Given the description of an element on the screen output the (x, y) to click on. 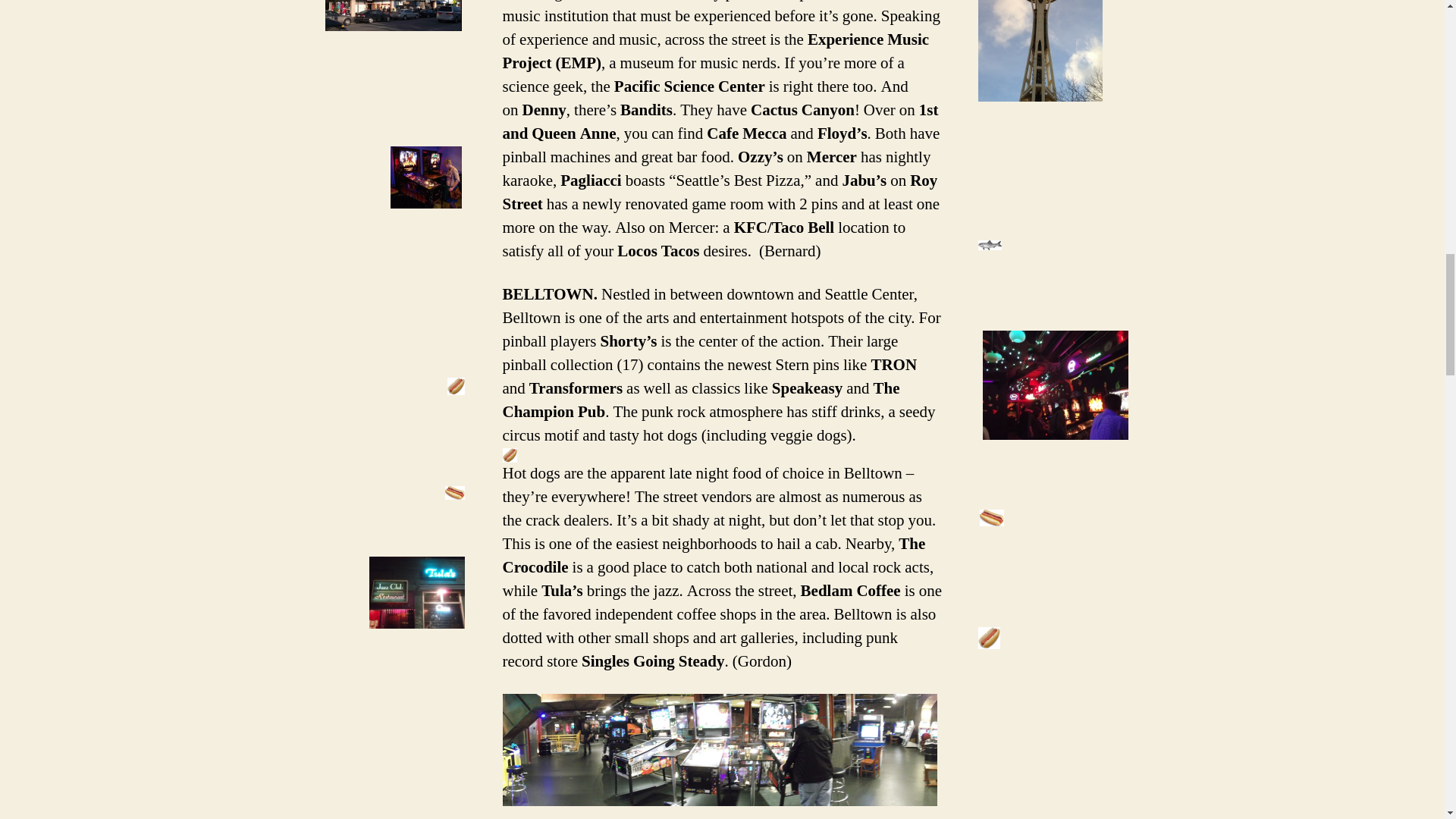
Space Needle (1040, 50)
Queen Anne Ave (392, 15)
Hot Dogs! (455, 385)
Salmon  (989, 245)
Jabu's (425, 177)
Shorty's (1055, 384)
Hot Dog!  (454, 492)
Hot Dog! (509, 454)
